Given the description of an element on the screen output the (x, y) to click on. 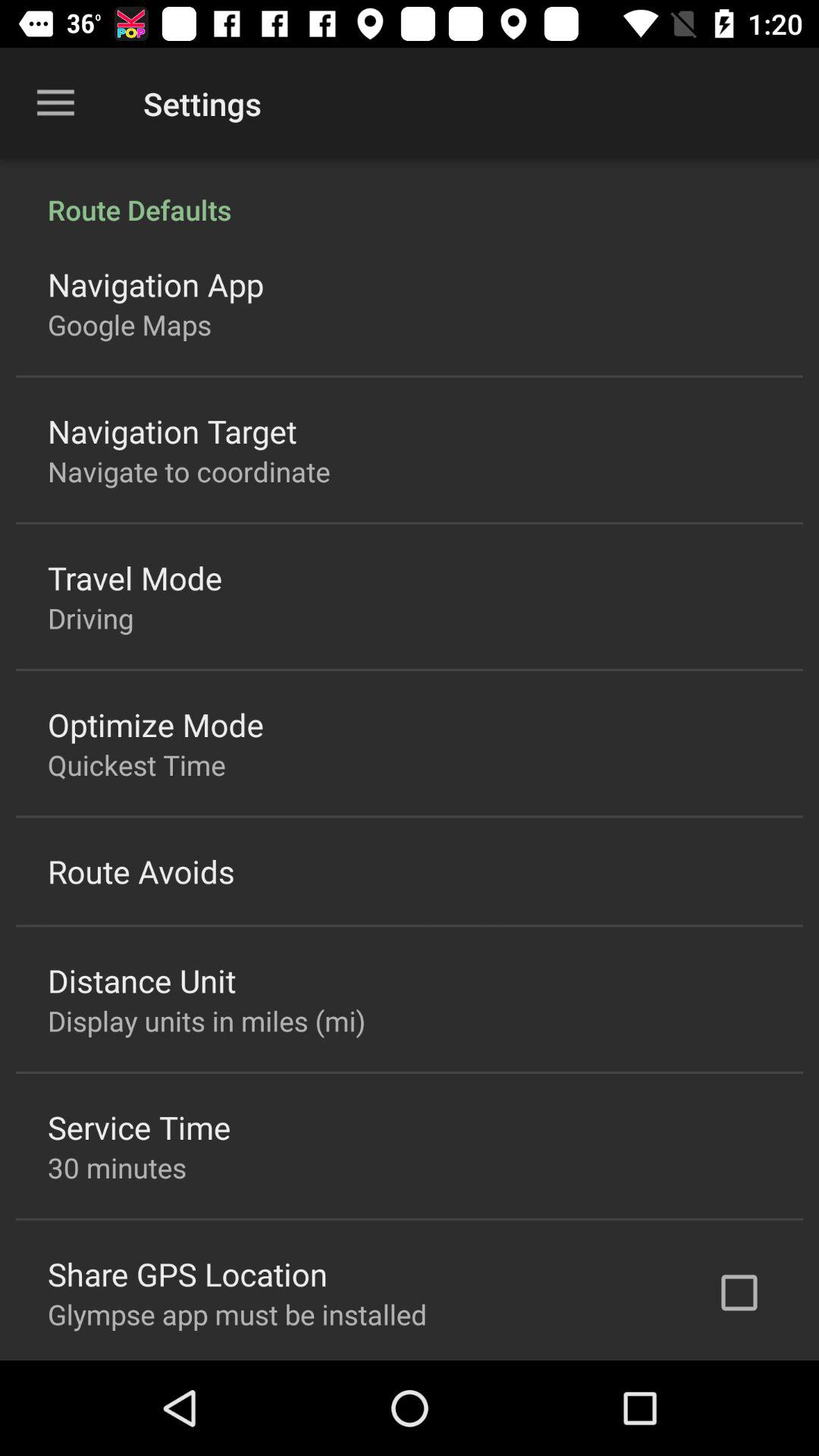
press icon above display units in icon (141, 980)
